Given the description of an element on the screen output the (x, y) to click on. 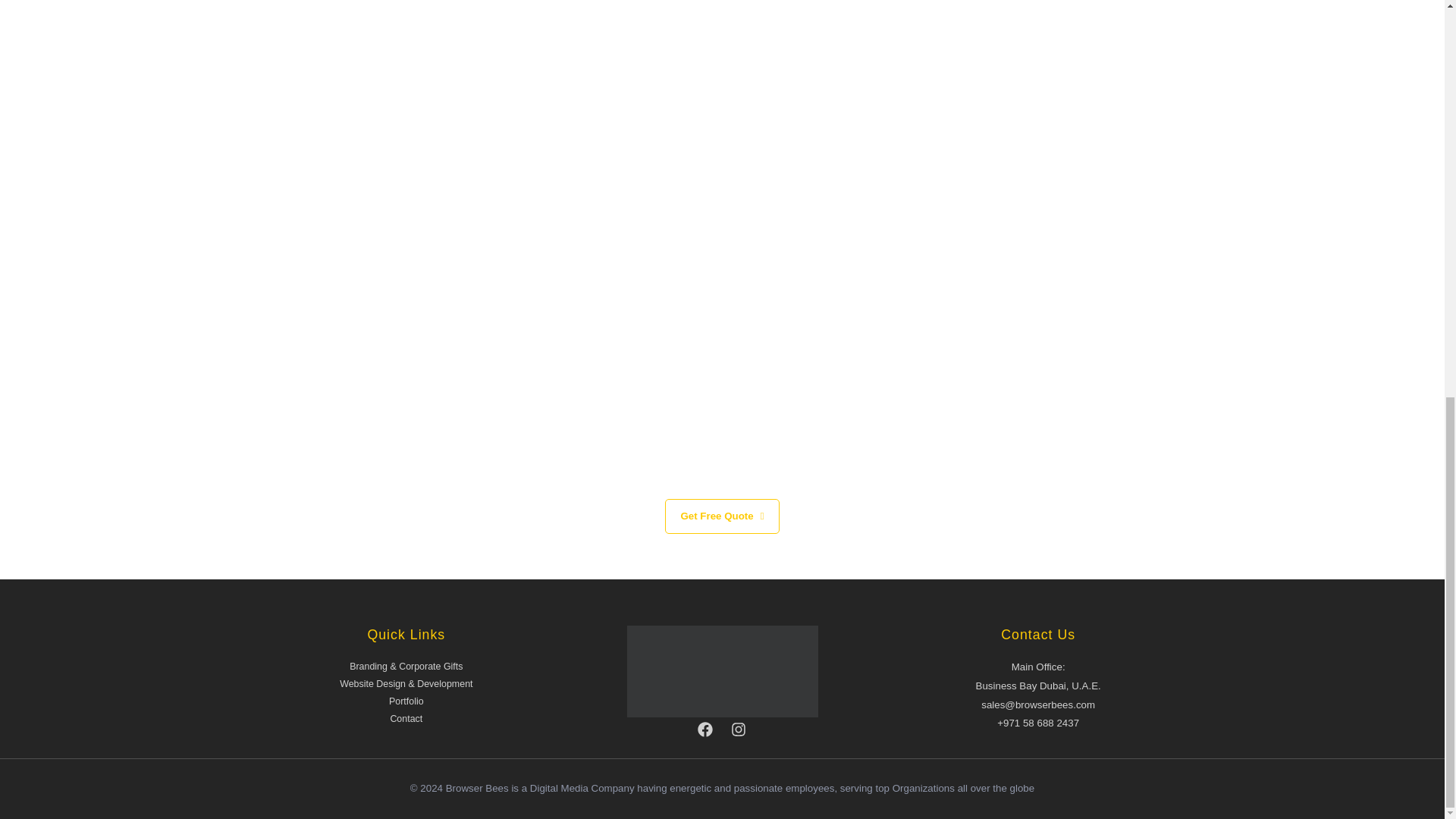
Get Free Quote (721, 515)
